Given the description of an element on the screen output the (x, y) to click on. 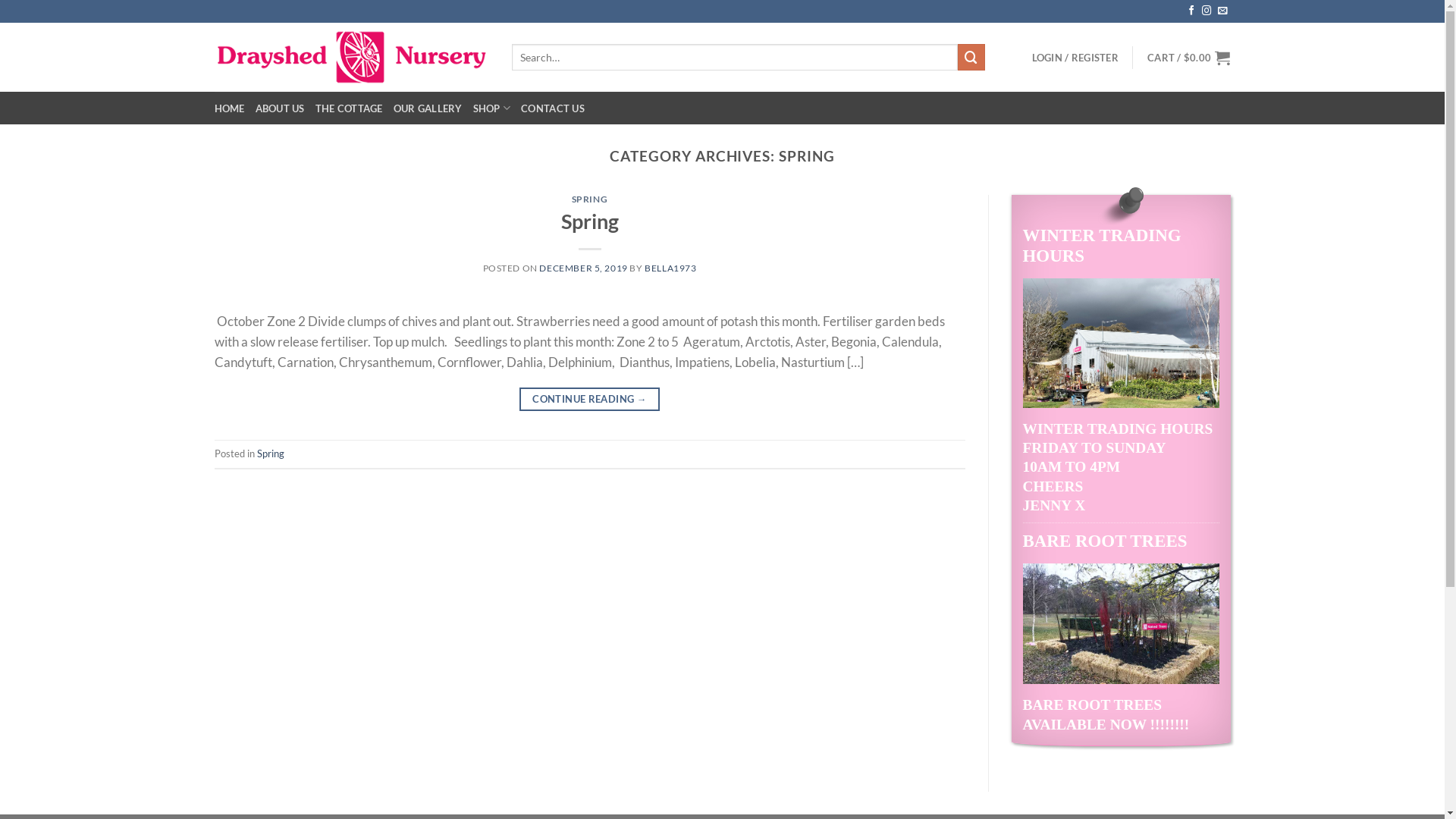
CART / $0.00 Element type: text (1188, 57)
Drayshed Nursery - Drayshed Nursery Website Element type: hover (350, 56)
Search Element type: text (971, 56)
BELLA1973 Element type: text (670, 267)
Spring Element type: text (589, 220)
THE COTTAGE Element type: text (348, 107)
ABOUT US Element type: text (279, 107)
DECEMBER 5, 2019 Element type: text (583, 267)
SHOP Element type: text (492, 107)
OUR GALLERY Element type: text (427, 107)
HOME Element type: text (228, 107)
CONTACT US Element type: text (552, 107)
SPRING Element type: text (589, 198)
Spring Element type: text (269, 453)
LOGIN / REGISTER Element type: text (1075, 57)
